Given the description of an element on the screen output the (x, y) to click on. 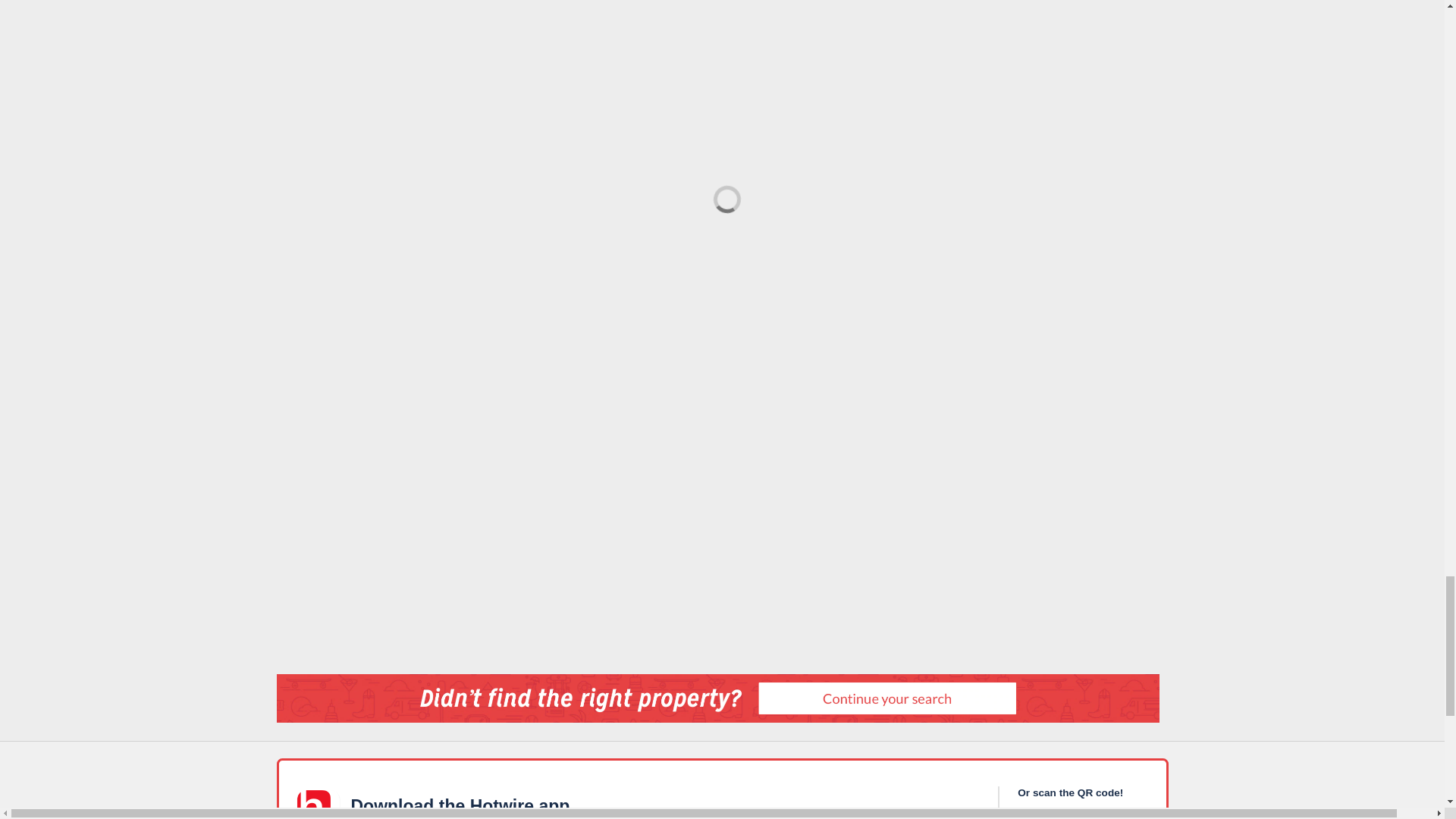
Loading... (721, 194)
